Given the description of an element on the screen output the (x, y) to click on. 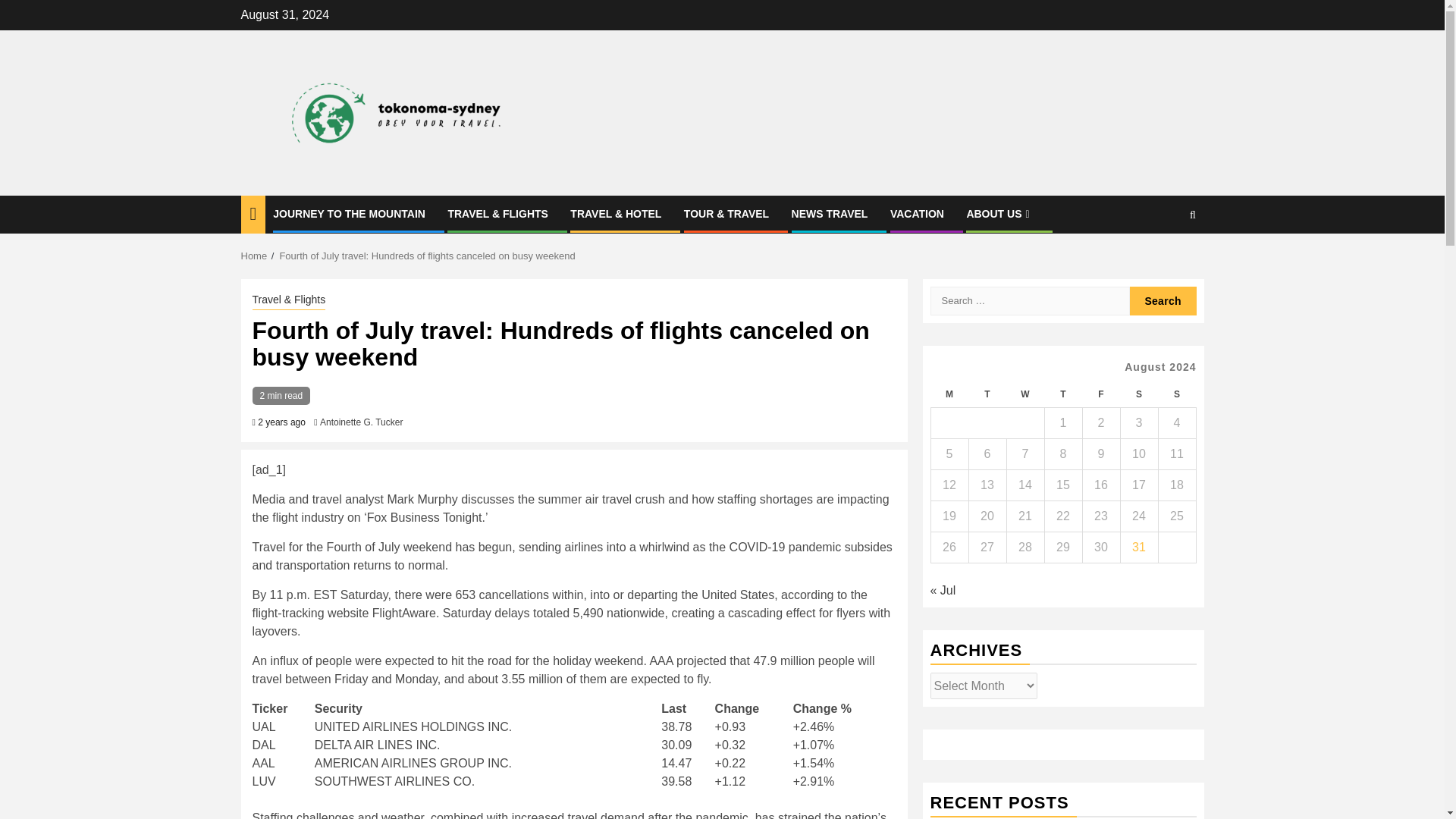
Sunday (1176, 394)
Search (1162, 300)
NEWS TRAVEL (829, 214)
Search (1162, 300)
Antoinette G. Tucker (361, 421)
VACATION (916, 214)
JOURNEY TO THE MOUNTAIN (349, 214)
Thursday (1062, 394)
Saturday (1138, 394)
Wednesday (1024, 394)
